Given the description of an element on the screen output the (x, y) to click on. 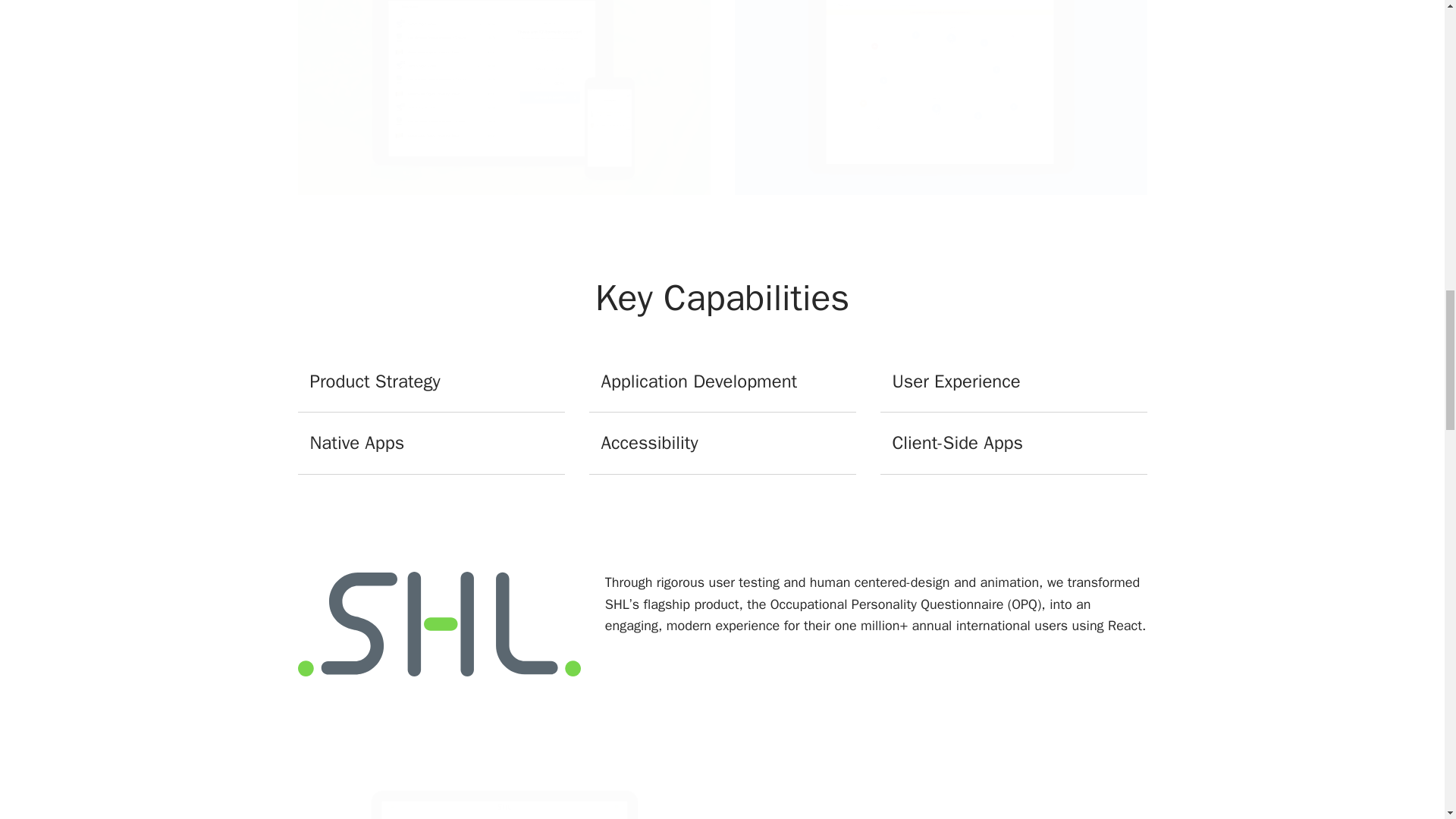
User Experience (1013, 382)
Accessibility (722, 443)
Application Development (722, 382)
Product Strategy (430, 382)
Native Apps (430, 443)
Client-Side Apps (1013, 443)
